Given the description of an element on the screen output the (x, y) to click on. 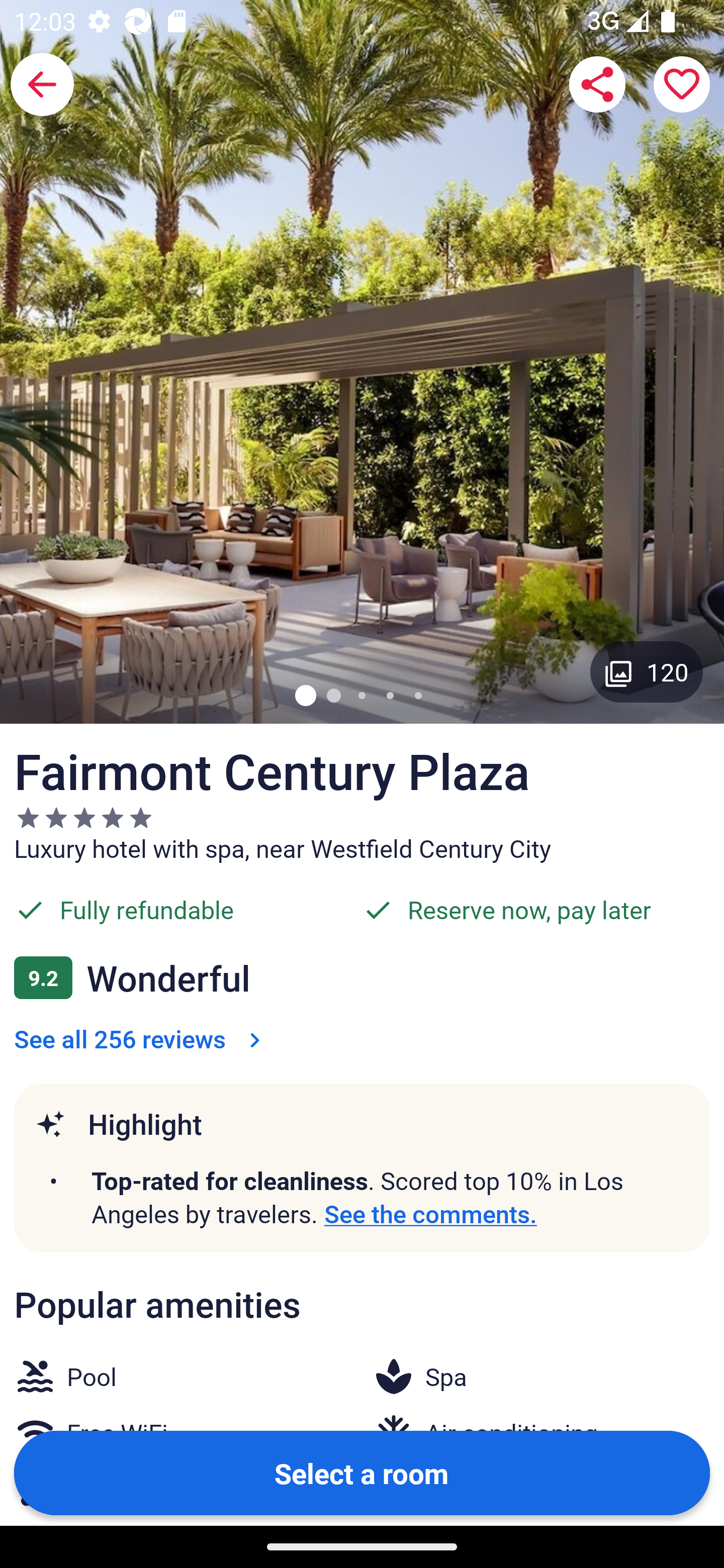
Back (42, 84)
Save property to a trip (681, 84)
Share Fairmont Century Plaza (597, 84)
Gallery button with 120 images (646, 671)
See all 256 reviews See all 256 reviews Link (140, 1038)
Select a room Button Select a room (361, 1472)
